Given the description of an element on the screen output the (x, y) to click on. 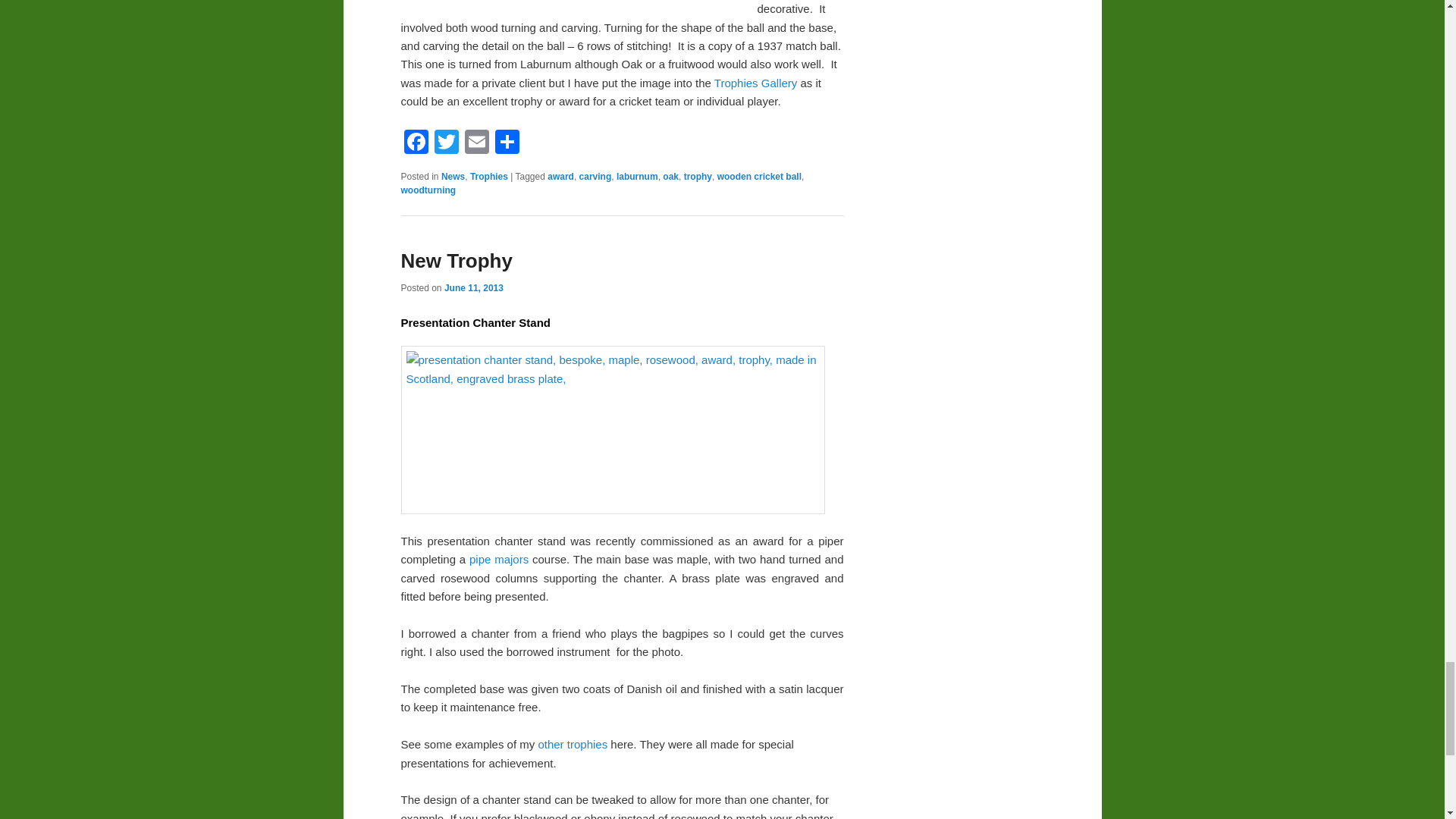
Facebook (415, 143)
Twitter (445, 143)
Email (476, 143)
